Given the description of an element on the screen output the (x, y) to click on. 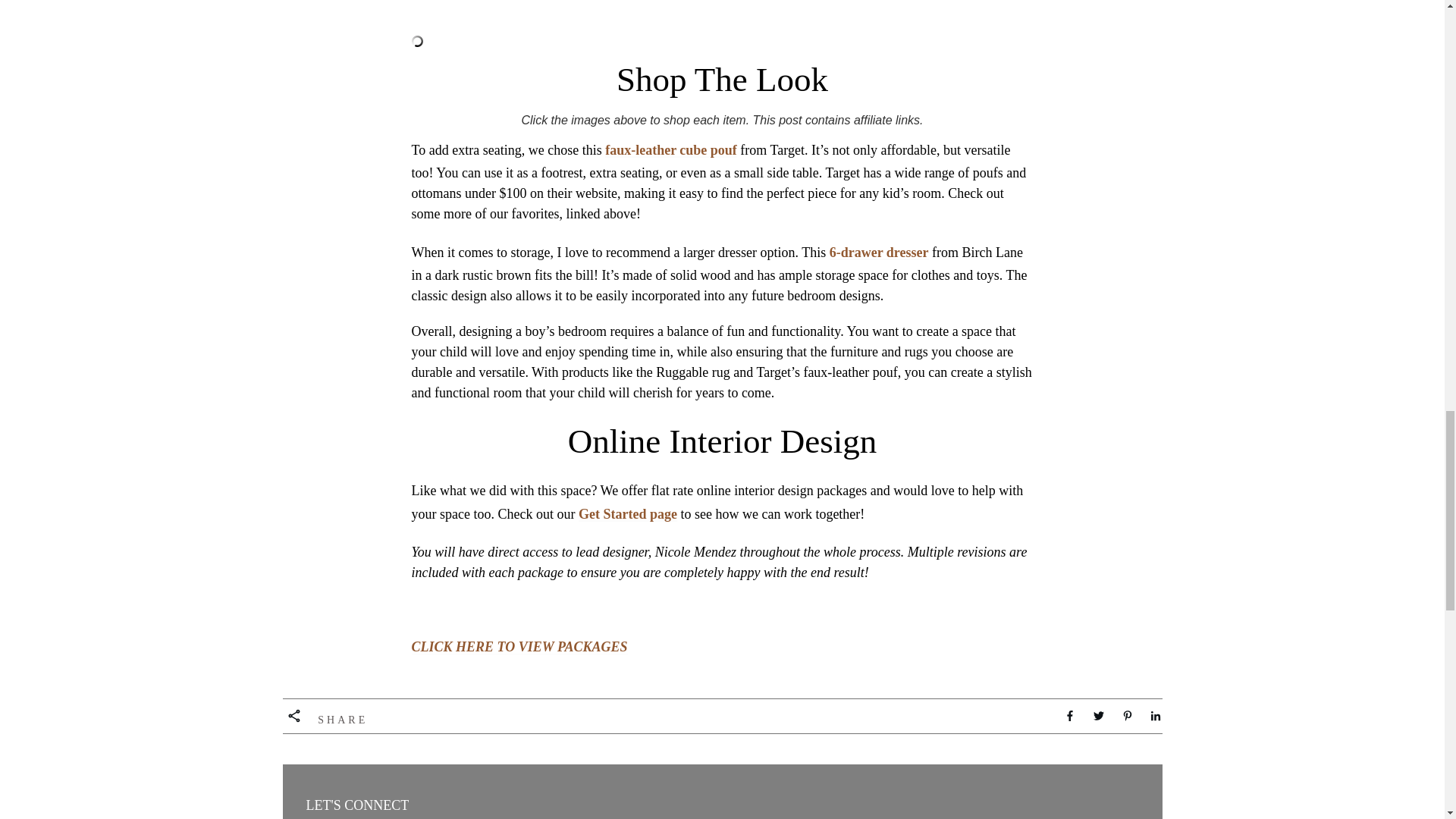
Get Started page (627, 513)
CLICK HERE TO VIEW PACKAGES (518, 646)
6-drawer dresser (878, 252)
faux-leather cube pouf (670, 150)
